Given the description of an element on the screen output the (x, y) to click on. 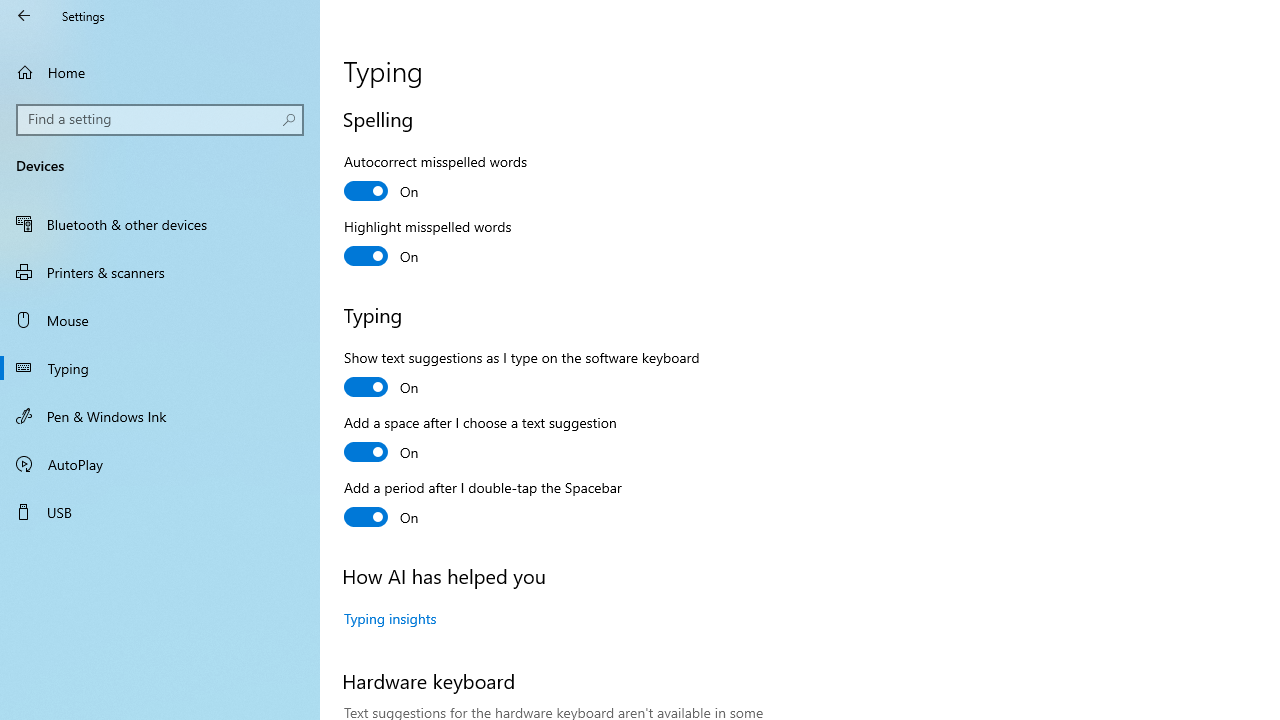
Typing insights (390, 618)
Show text suggestions as I type on the software keyboard (522, 375)
Bluetooth & other devices (160, 223)
Highlight misspelled words (428, 244)
Add a space after I choose a text suggestion (480, 440)
Autocorrect misspelled words (435, 179)
AutoPlay (160, 463)
Pen & Windows Ink (160, 415)
Printers & scanners (160, 271)
Mouse (160, 319)
Search box, Find a setting (160, 119)
Home (160, 71)
Back (24, 15)
Add a period after I double-tap the Spacebar (483, 505)
USB (160, 511)
